Given the description of an element on the screen output the (x, y) to click on. 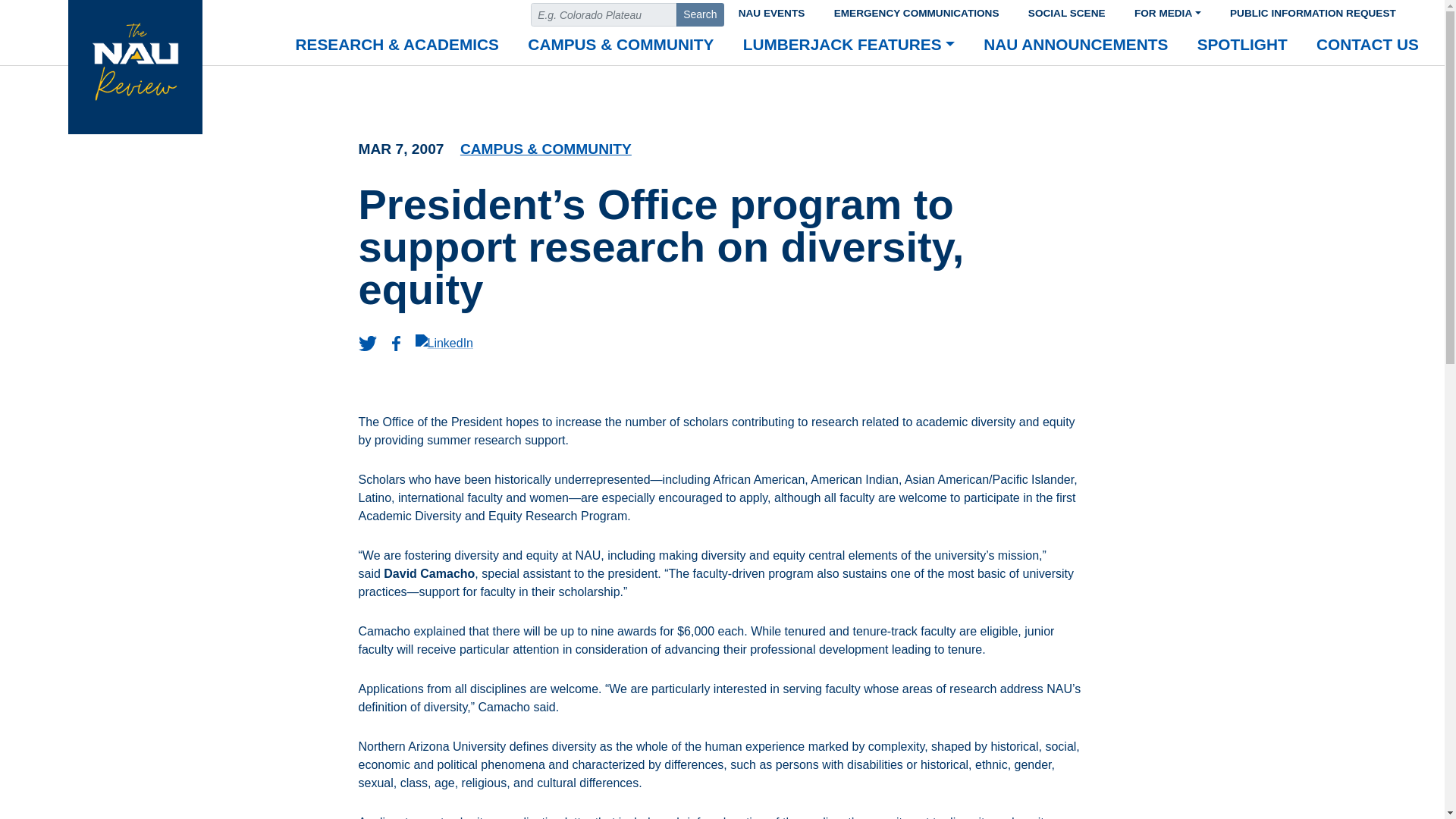
LUMBERJACK FEATURES (848, 45)
Search (700, 14)
Search (700, 14)
PUBLIC INFORMATION REQUEST (1312, 10)
Lumberjack Features (848, 45)
EMERGENCY COMMUNICATIONS (915, 10)
CONTACT US (1366, 45)
SPOTLIGHT (1241, 45)
SOCIAL SCENE (1066, 10)
NAU Events (770, 10)
